Given the description of an element on the screen output the (x, y) to click on. 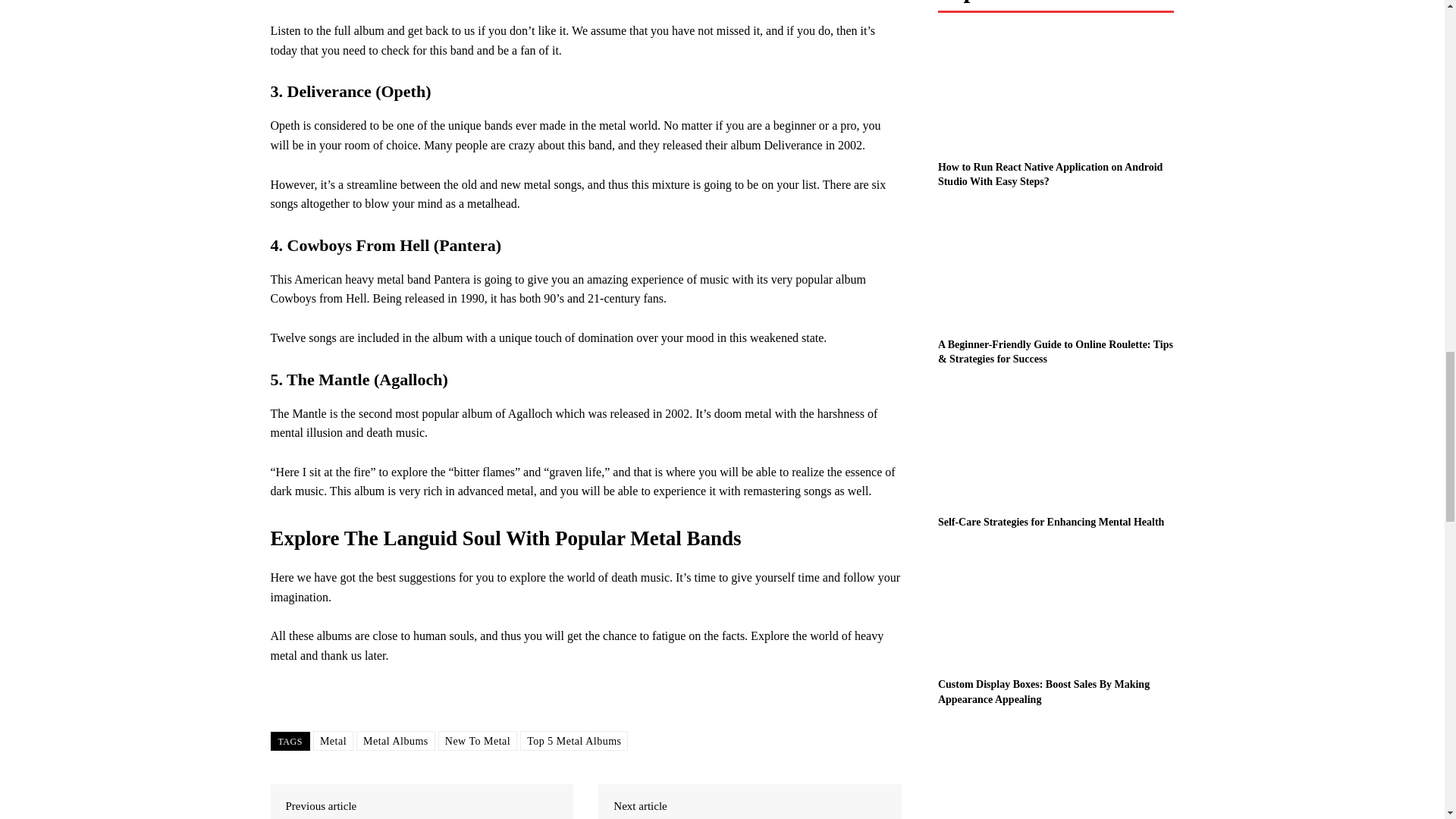
Metal Albums (395, 741)
Metal (333, 741)
